Given the description of an element on the screen output the (x, y) to click on. 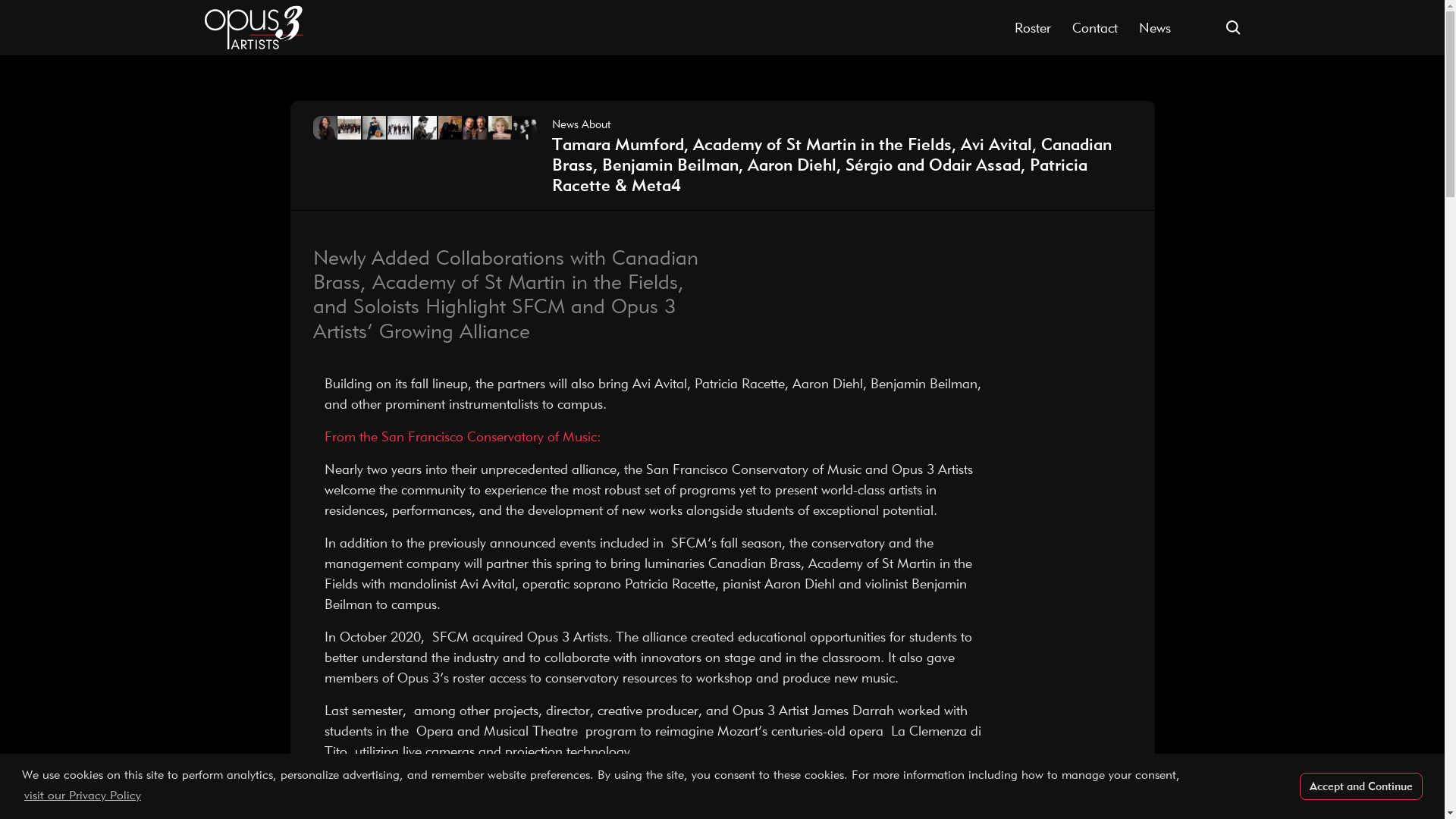
From the San Francisco Conservatory of Music: (462, 436)
Accept and Continue (1361, 786)
Roster (1032, 27)
visit our Privacy Policy (81, 794)
News (1154, 27)
Contact (1094, 27)
